Given the description of an element on the screen output the (x, y) to click on. 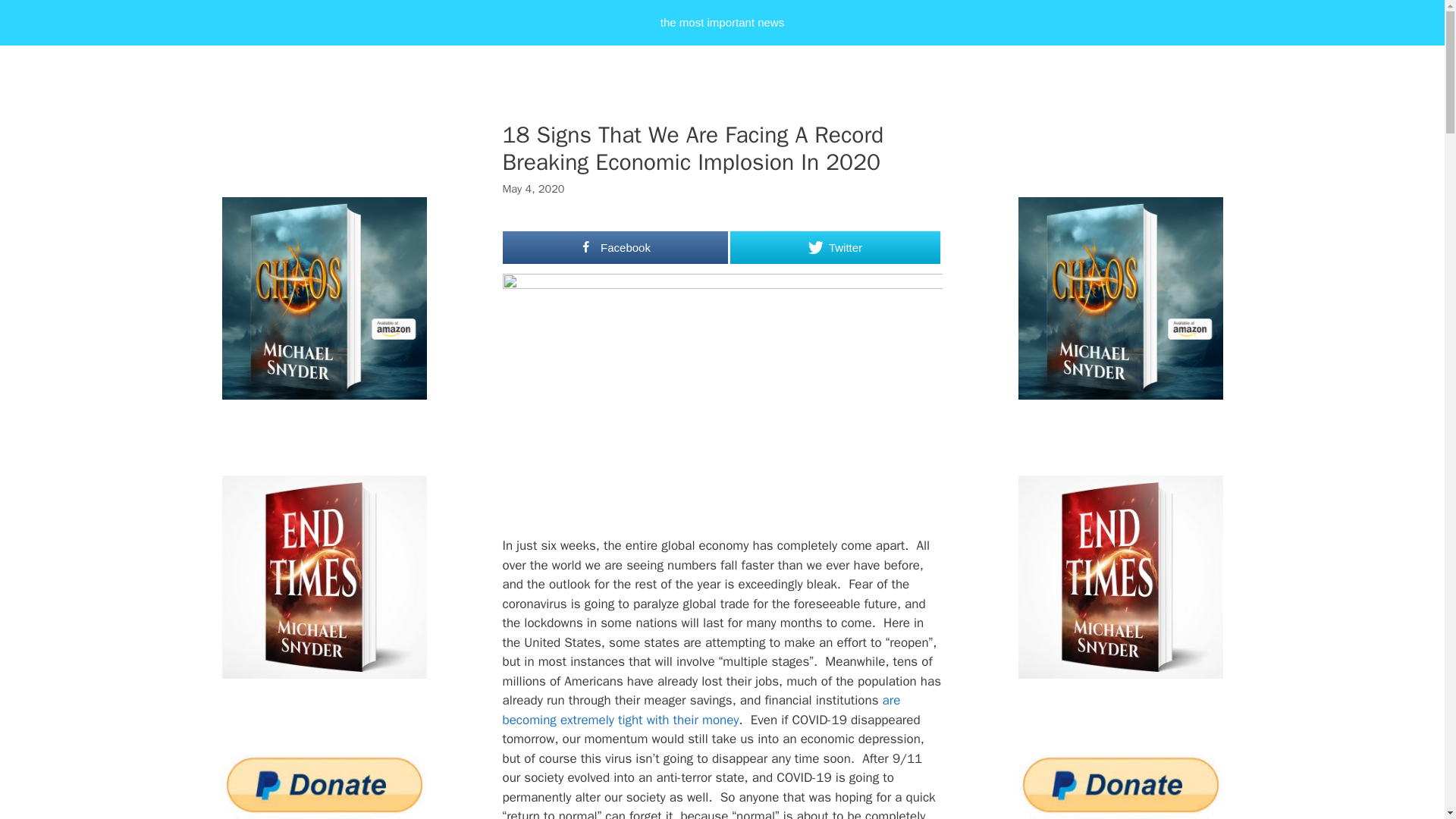
the most important news (722, 22)
Facebook (615, 246)
are becoming extremely tight with their money (700, 710)
are becoming extremely tight with their money (700, 710)
Facebook (615, 246)
Twitter (834, 246)
Twitter (834, 246)
the most important news (722, 22)
